Given the description of an element on the screen output the (x, y) to click on. 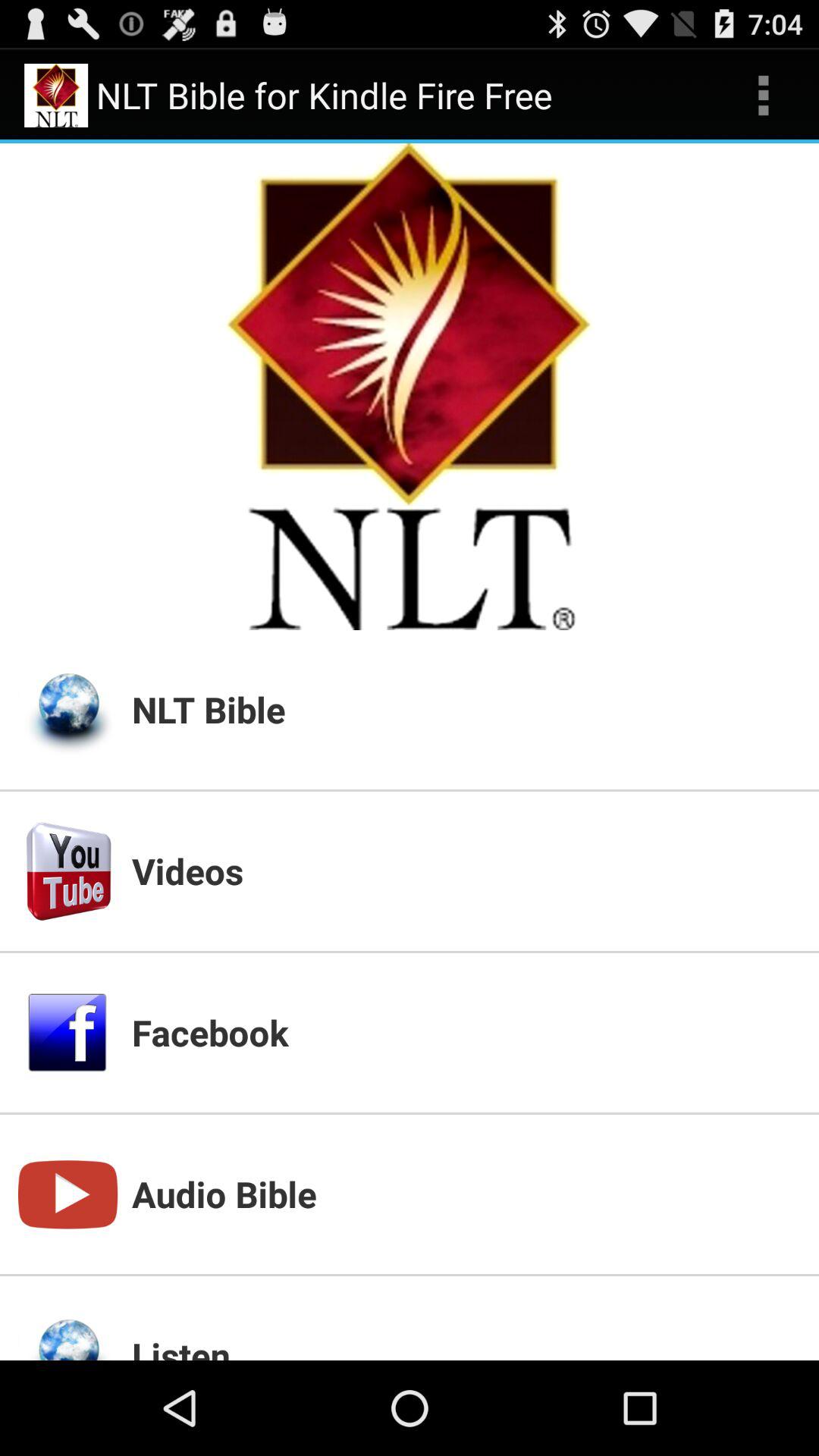
jump until audio bible (465, 1193)
